Given the description of an element on the screen output the (x, y) to click on. 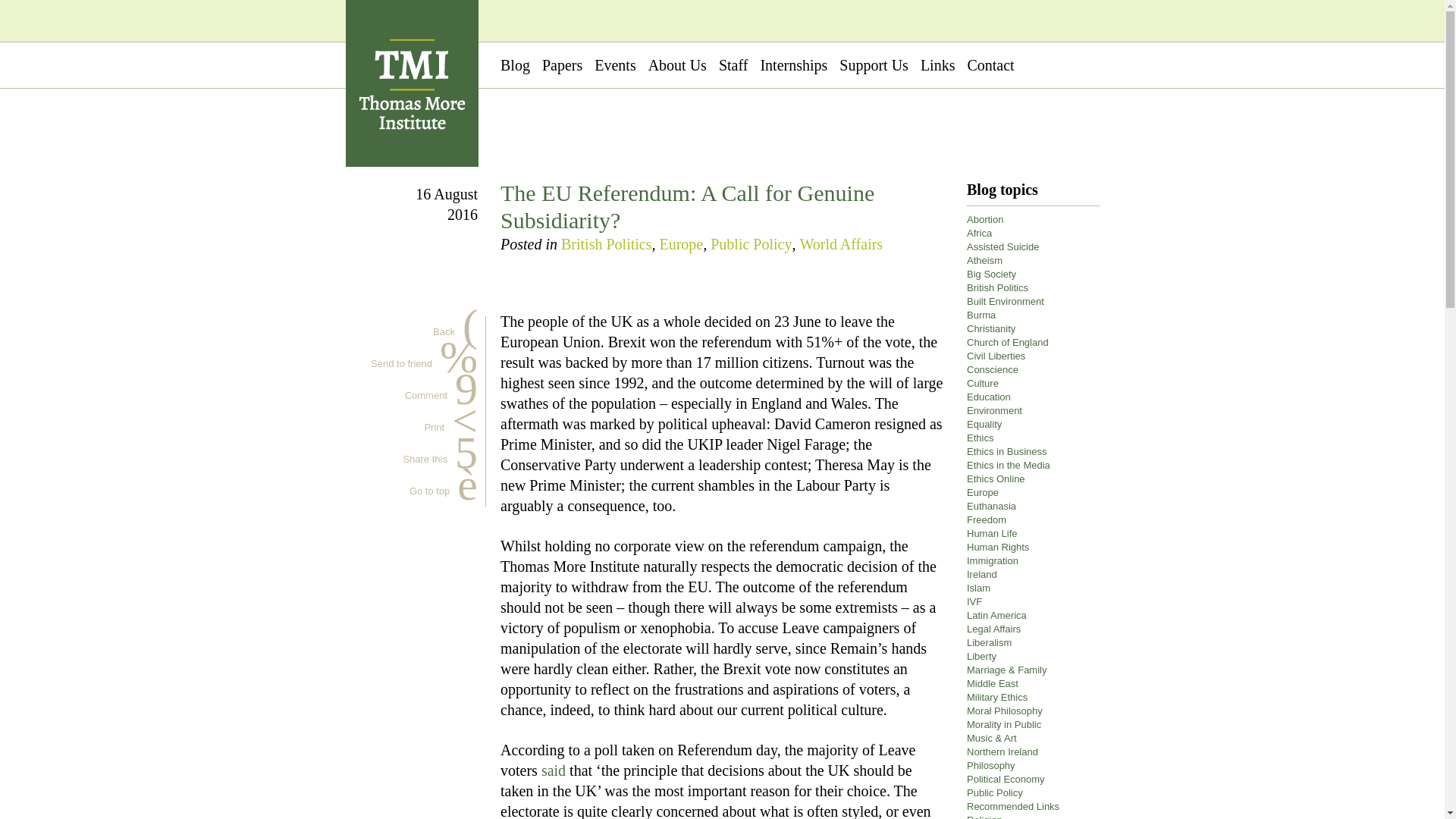
Equality (983, 423)
Papers (561, 65)
World Affairs (840, 243)
Links (425, 395)
Culture (937, 65)
Abortion (982, 383)
Church of England (984, 219)
About Us (1007, 342)
Conscience (676, 65)
Christianity (991, 369)
Built Environment (990, 328)
Europe (1004, 301)
Public Policy (681, 243)
Environment (751, 243)
